Given the description of an element on the screen output the (x, y) to click on. 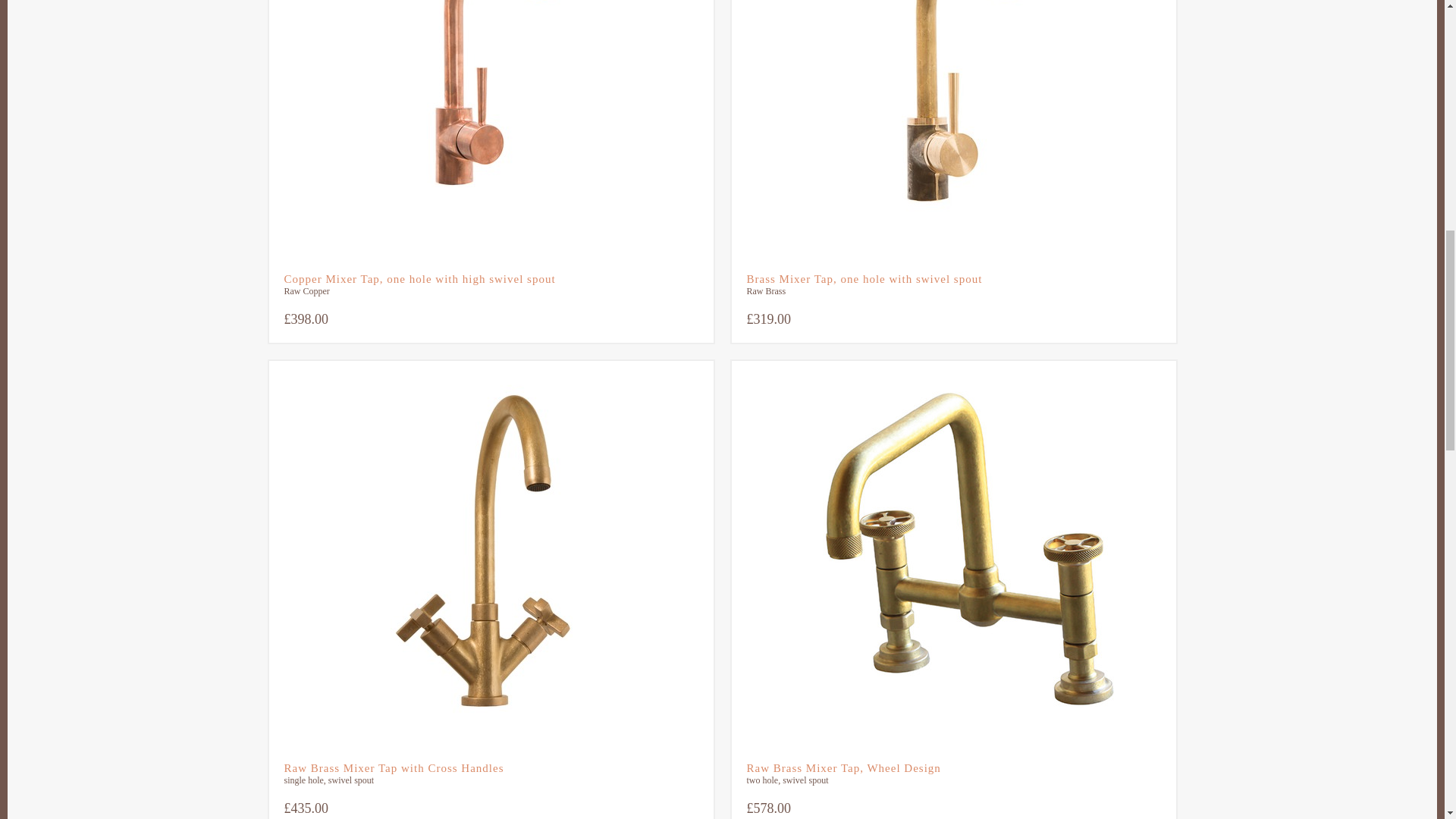
Brass Mixer Tap, one hole with swivel spout (952, 278)
Brass Mixer Tap, one hole with swivel spout (952, 128)
Raw Brass Mixer Tap with Cross Handles (490, 768)
Raw Brass Mixer Tap, Wheel Design (952, 768)
Copper Mixer Tap, one hole with high swivel spout (490, 278)
Copper Mixer Tap, one hole with high swivel spout (490, 128)
